Given the description of an element on the screen output the (x, y) to click on. 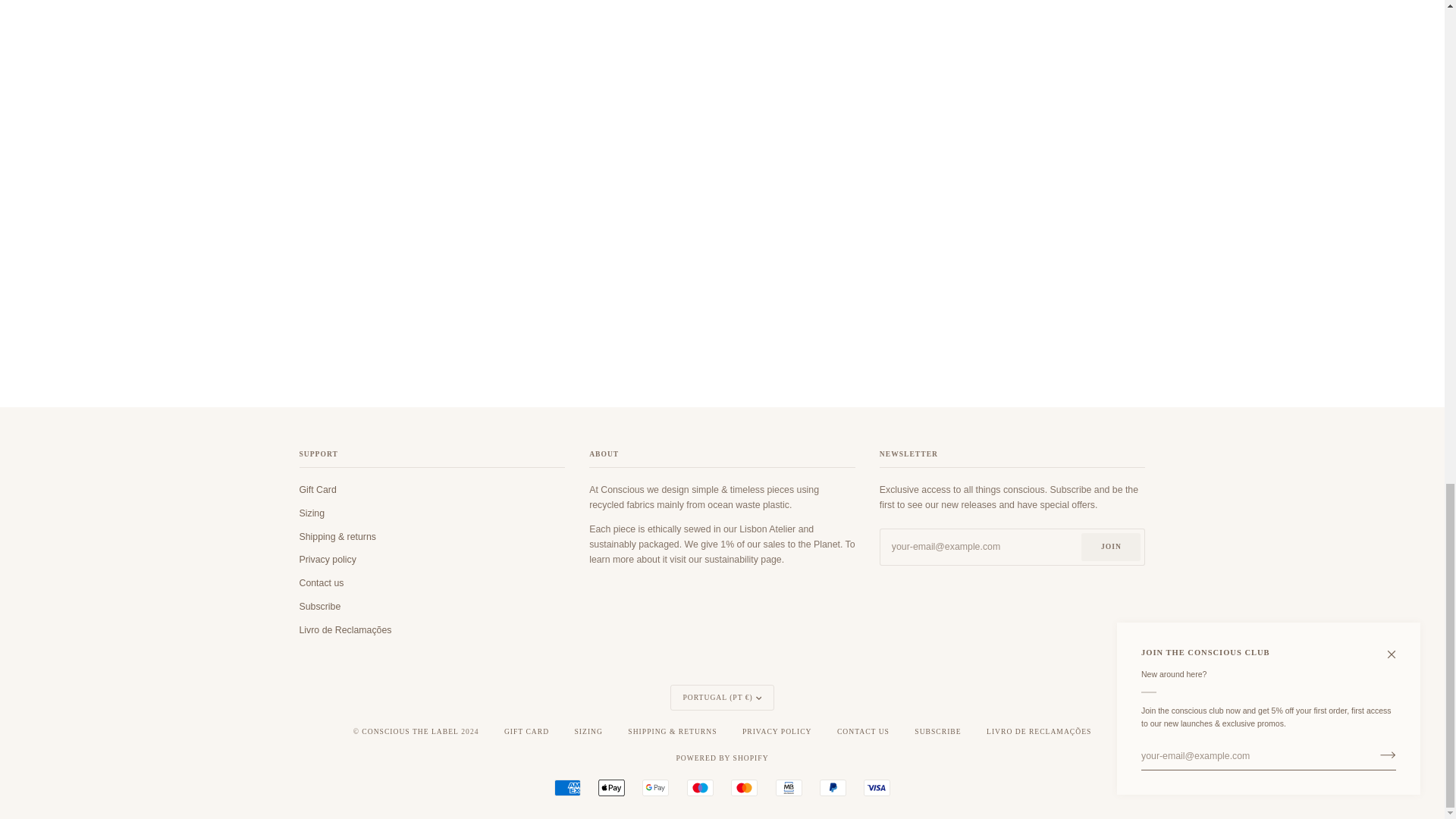
PAYPAL (832, 787)
VISA (876, 787)
APPLE PAY (611, 787)
MAESTRO (700, 787)
GOOGLE PAY (655, 787)
MULTIBANCO (789, 787)
AMERICAN EXPRESS (567, 787)
MASTERCARD (743, 787)
